Given the description of an element on the screen output the (x, y) to click on. 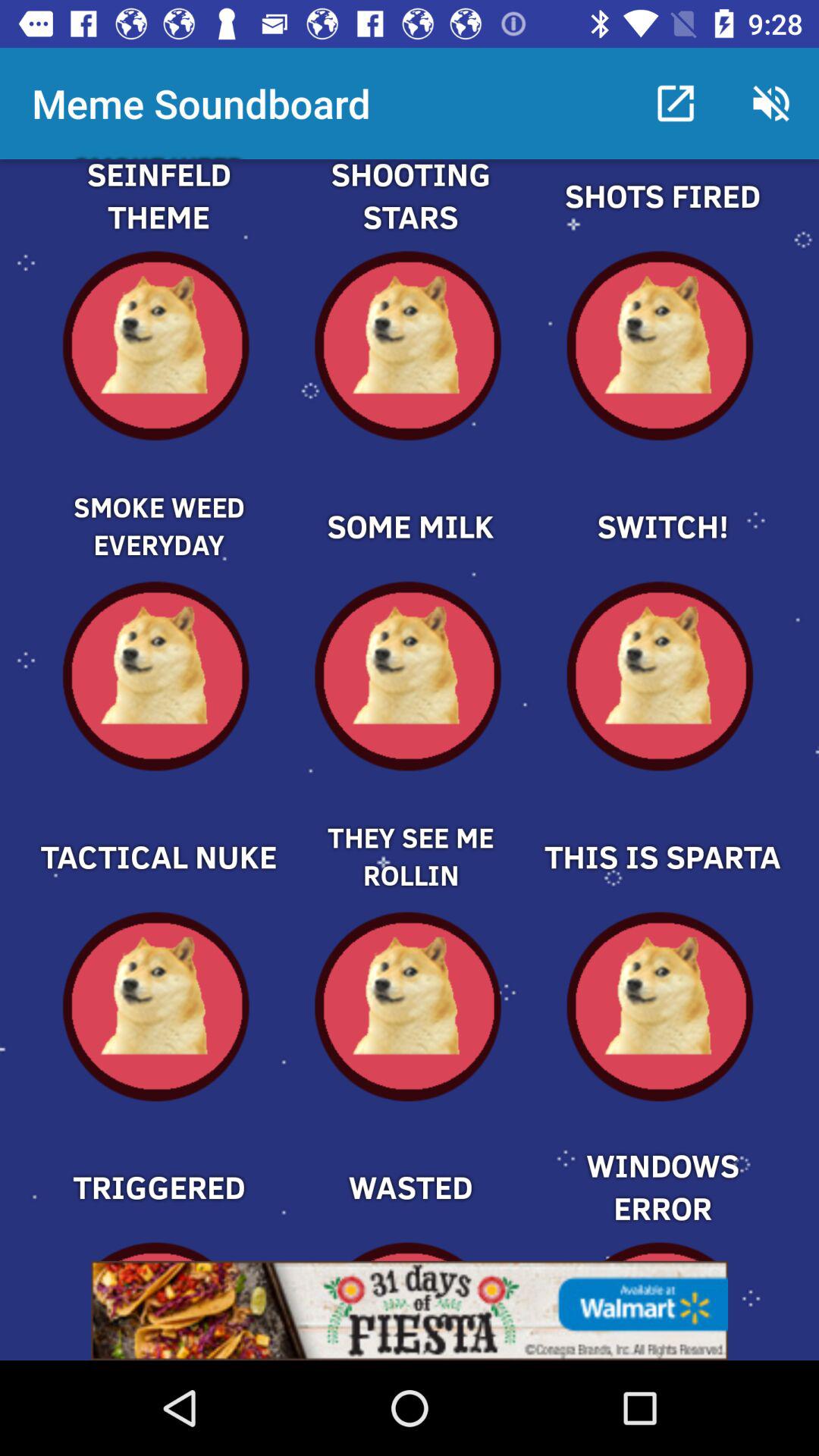
select the shooting stars (409, 214)
